Given the description of an element on the screen output the (x, y) to click on. 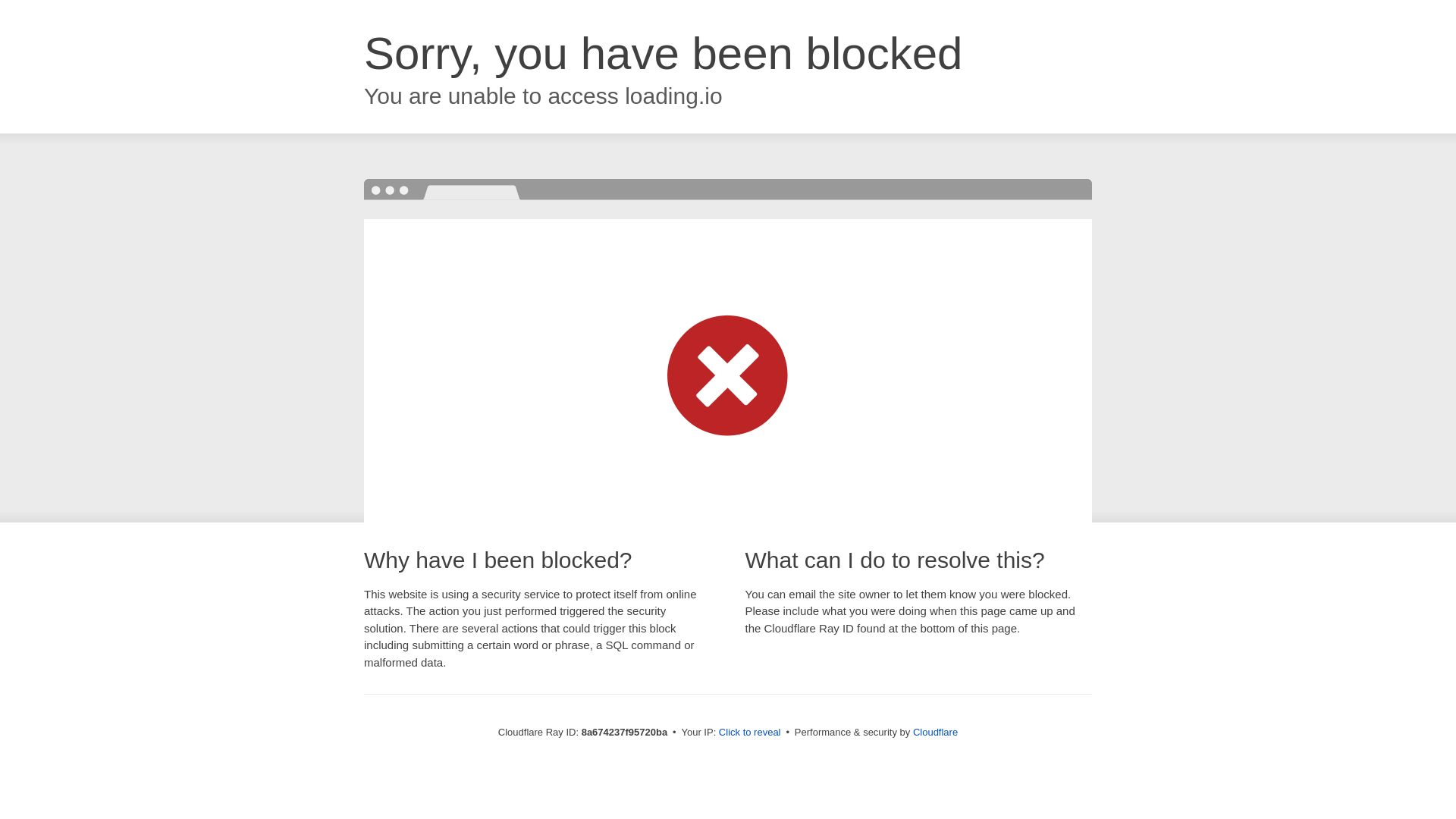
Click to reveal (749, 732)
Cloudflare (935, 731)
